Given the description of an element on the screen output the (x, y) to click on. 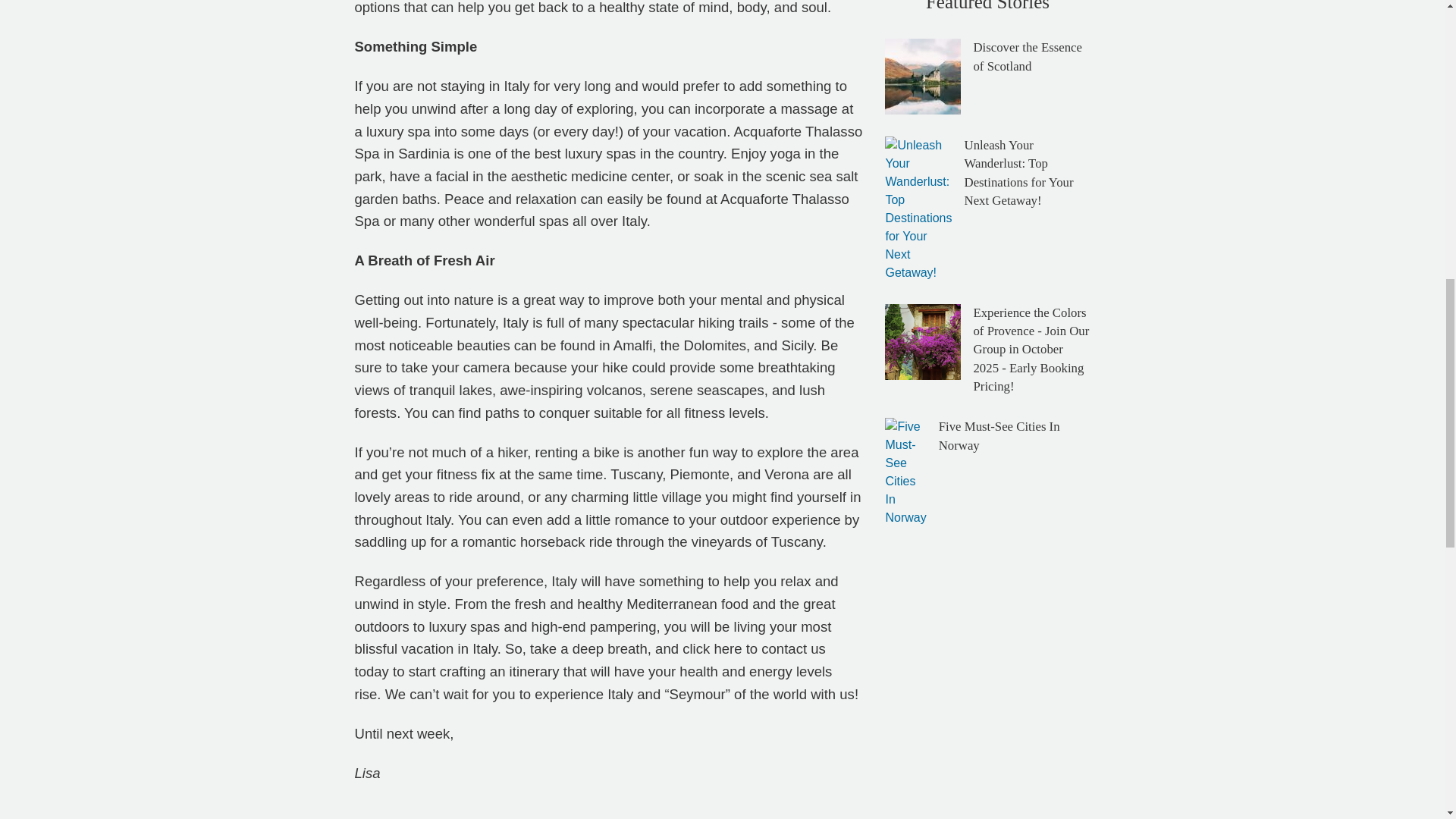
Discover the Essence of Scotland (1026, 56)
